Given the description of an element on the screen output the (x, y) to click on. 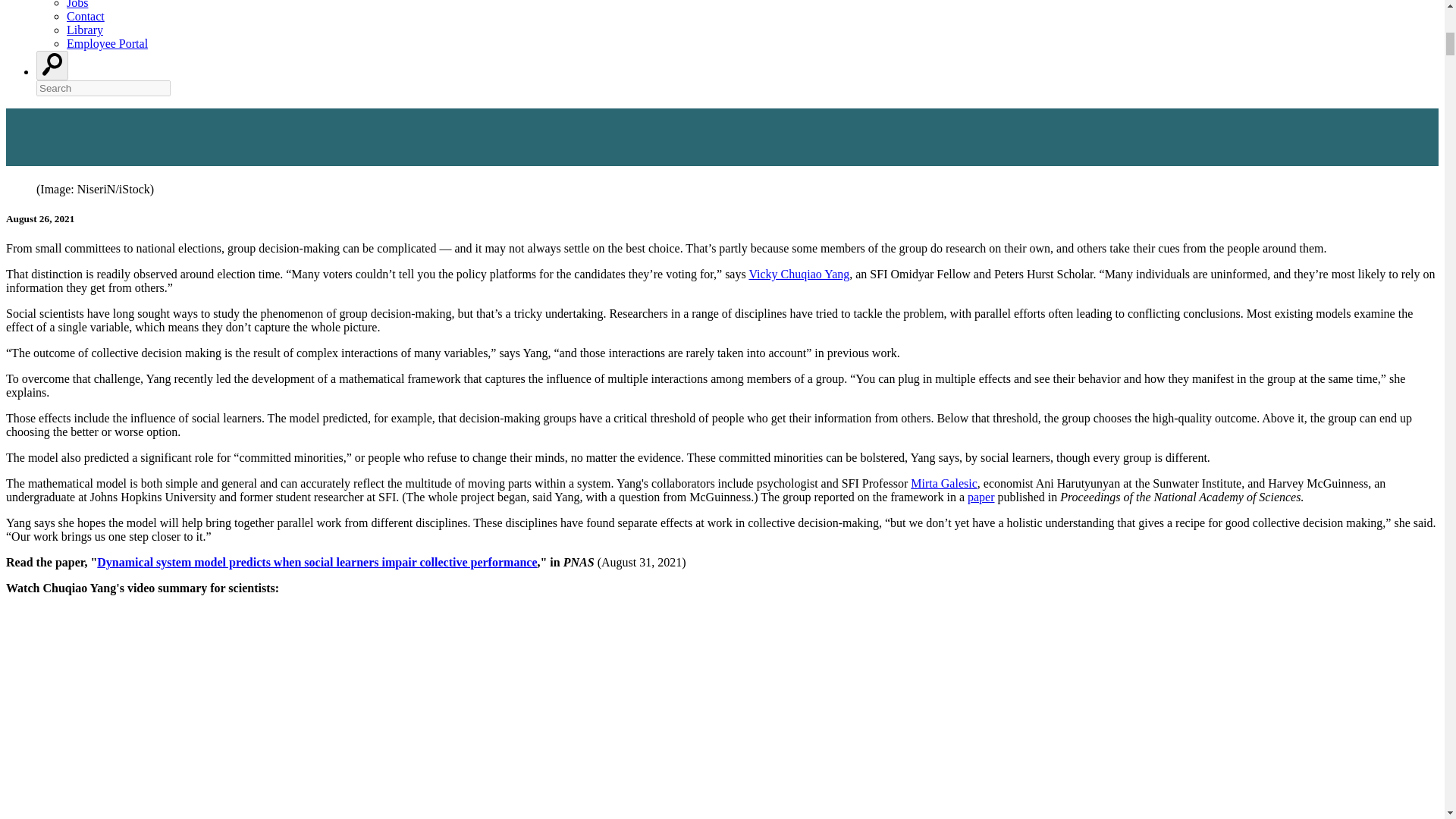
YouTube video player (217, 726)
